Given the description of an element on the screen output the (x, y) to click on. 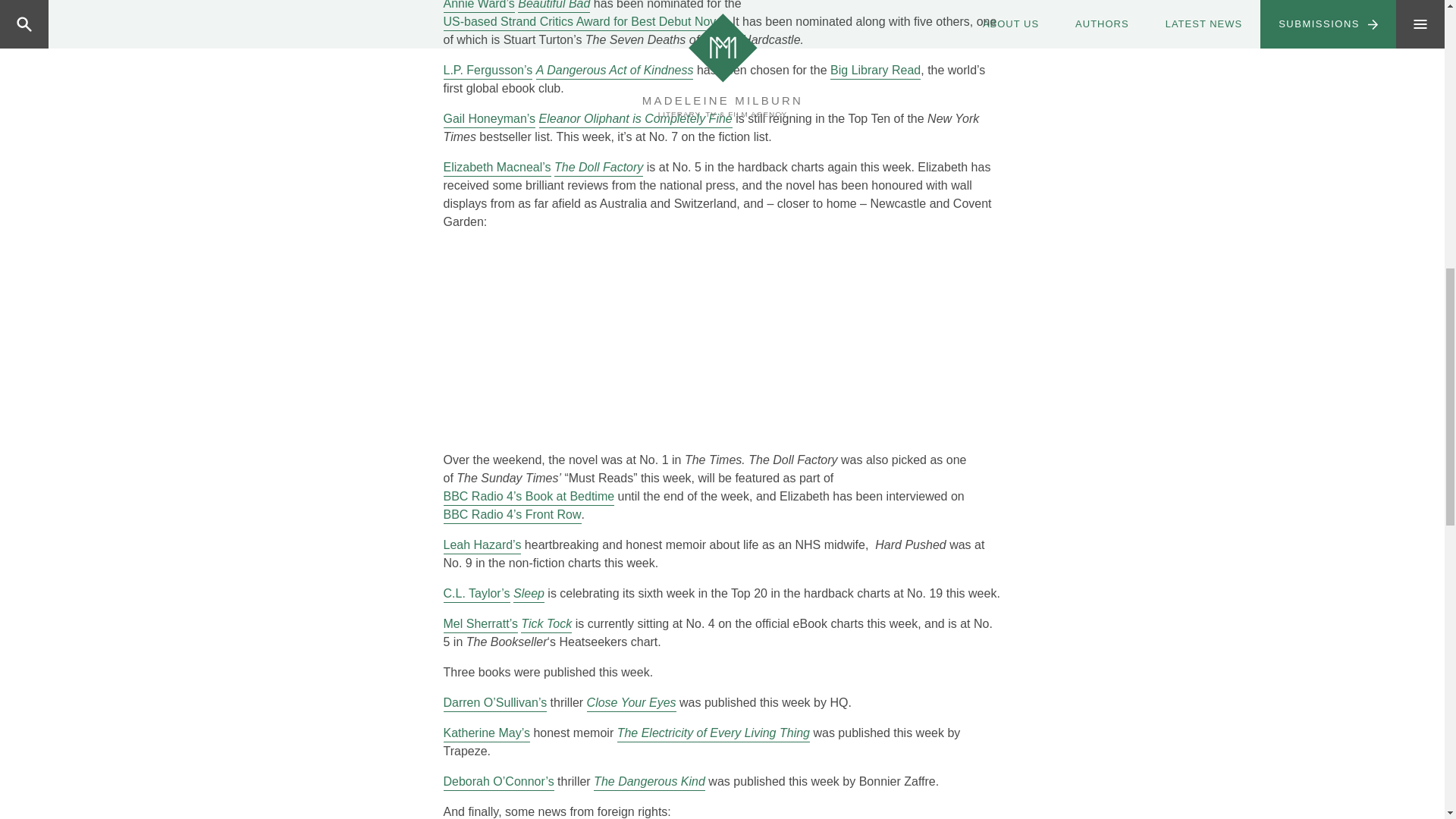
US-based Strand Critics Award for Best Debut Novel (583, 22)
A Dangerous Act of Kindness (614, 70)
Big Library Read (874, 70)
Beautiful Bad (553, 6)
